Given the description of an element on the screen output the (x, y) to click on. 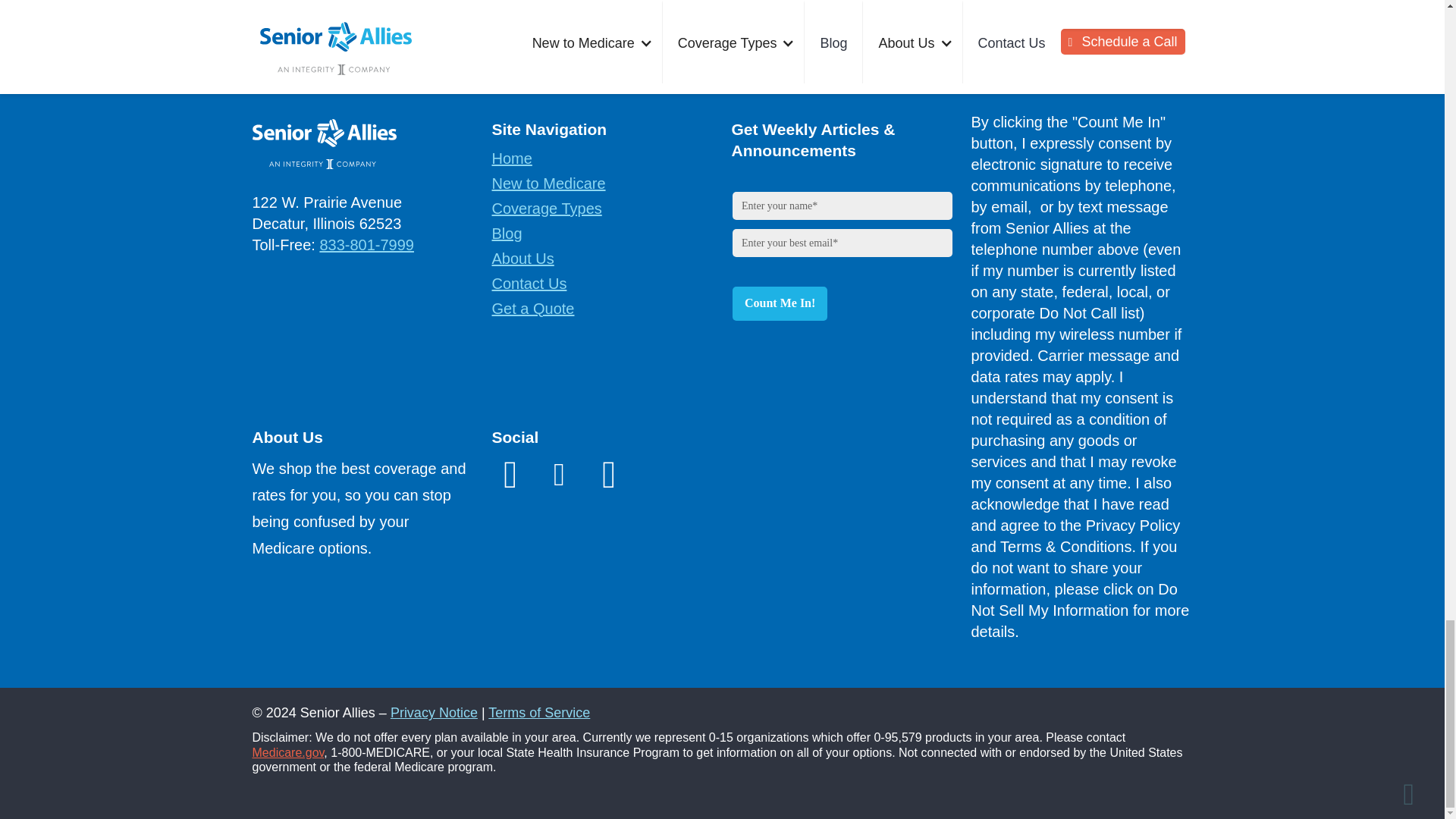
Senior Allies Newsletter Signup Footer (841, 260)
Email Us Now (314, 23)
